Given the description of an element on the screen output the (x, y) to click on. 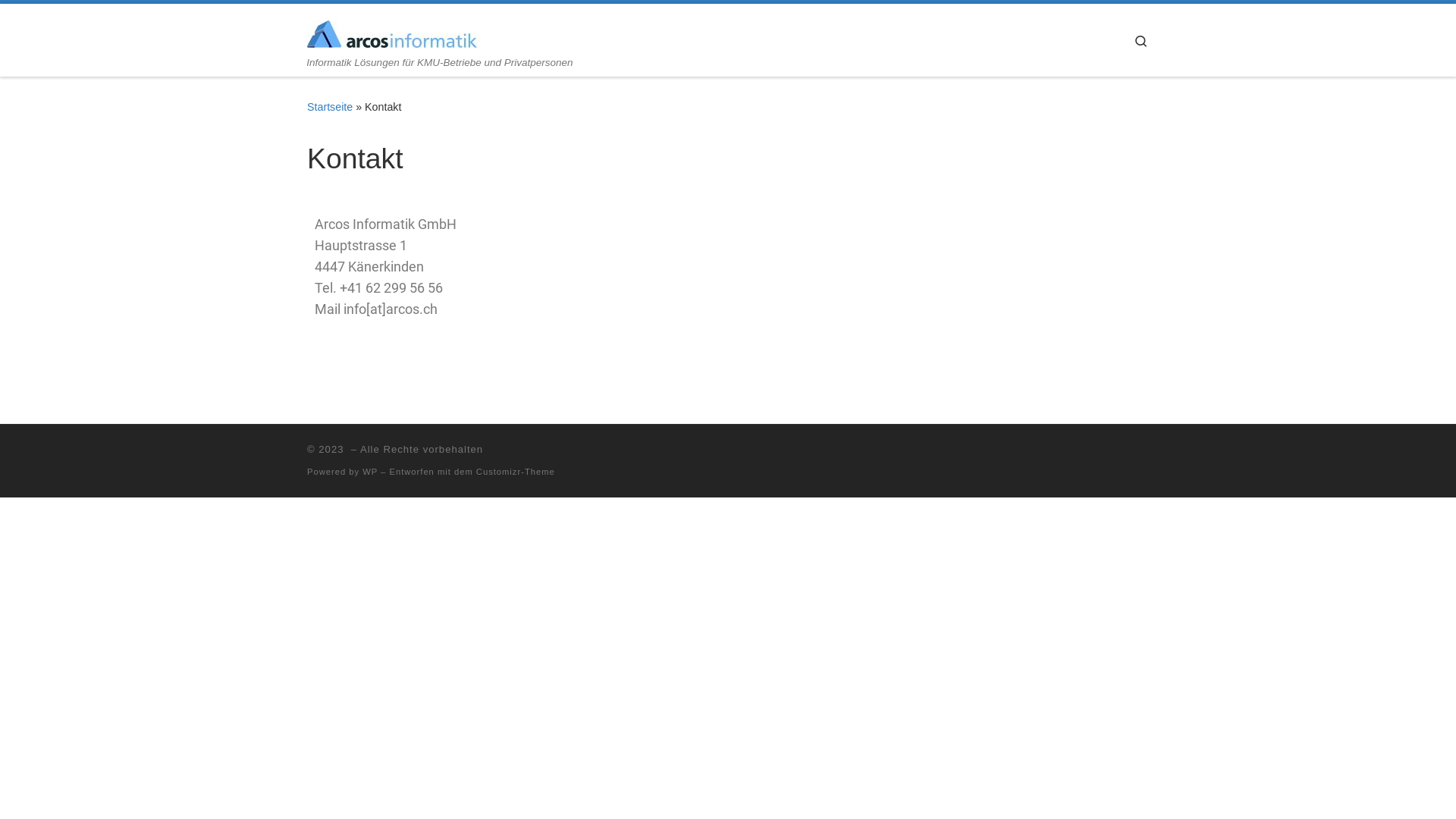
WP Element type: text (369, 471)
Search Element type: text (1140, 39)
Customizr-Theme Element type: text (515, 471)
Startseite Element type: text (329, 106)
Skip to content Element type: text (61, 20)
